Given the description of an element on the screen output the (x, y) to click on. 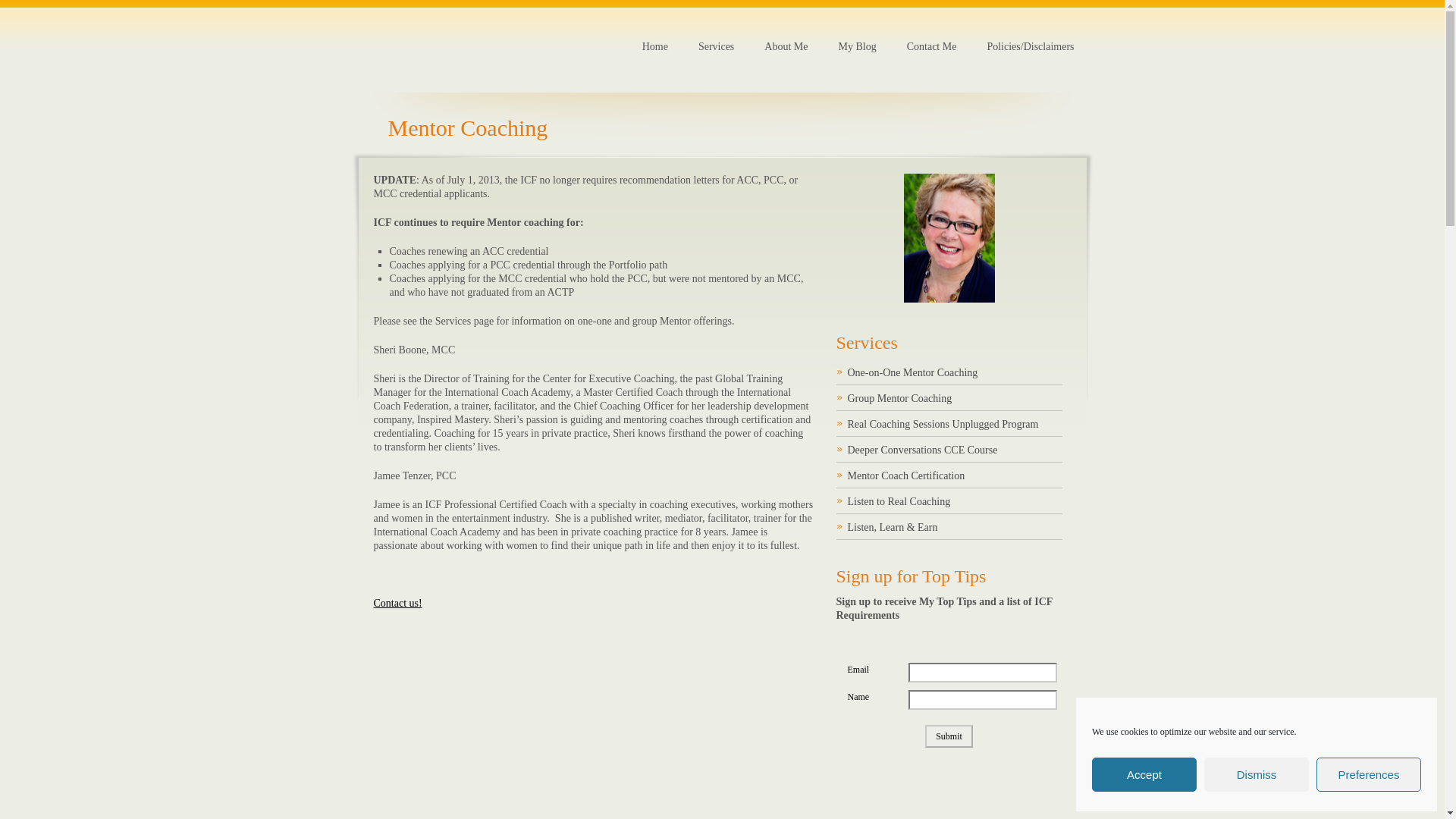
About Me (785, 46)
Services (716, 46)
Dismiss (1256, 774)
Accept (1144, 774)
Submit (948, 735)
Preferences (1368, 774)
Home (655, 46)
Contact Me (397, 603)
Sheri Boone (949, 237)
My Blog (856, 46)
